Given the description of an element on the screen output the (x, y) to click on. 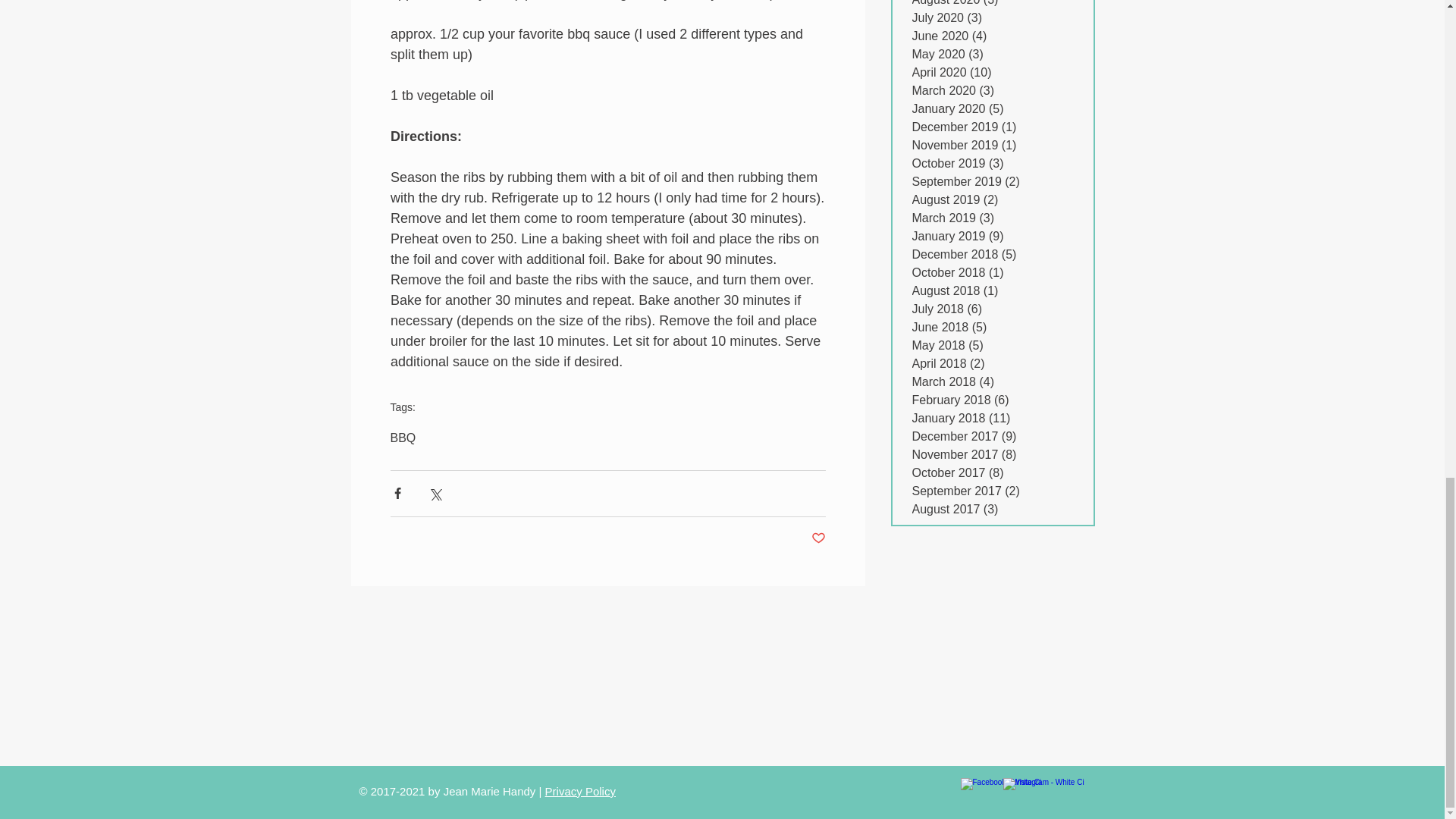
BBQ (402, 438)
Post not marked as liked (817, 538)
